Given the description of an element on the screen output the (x, y) to click on. 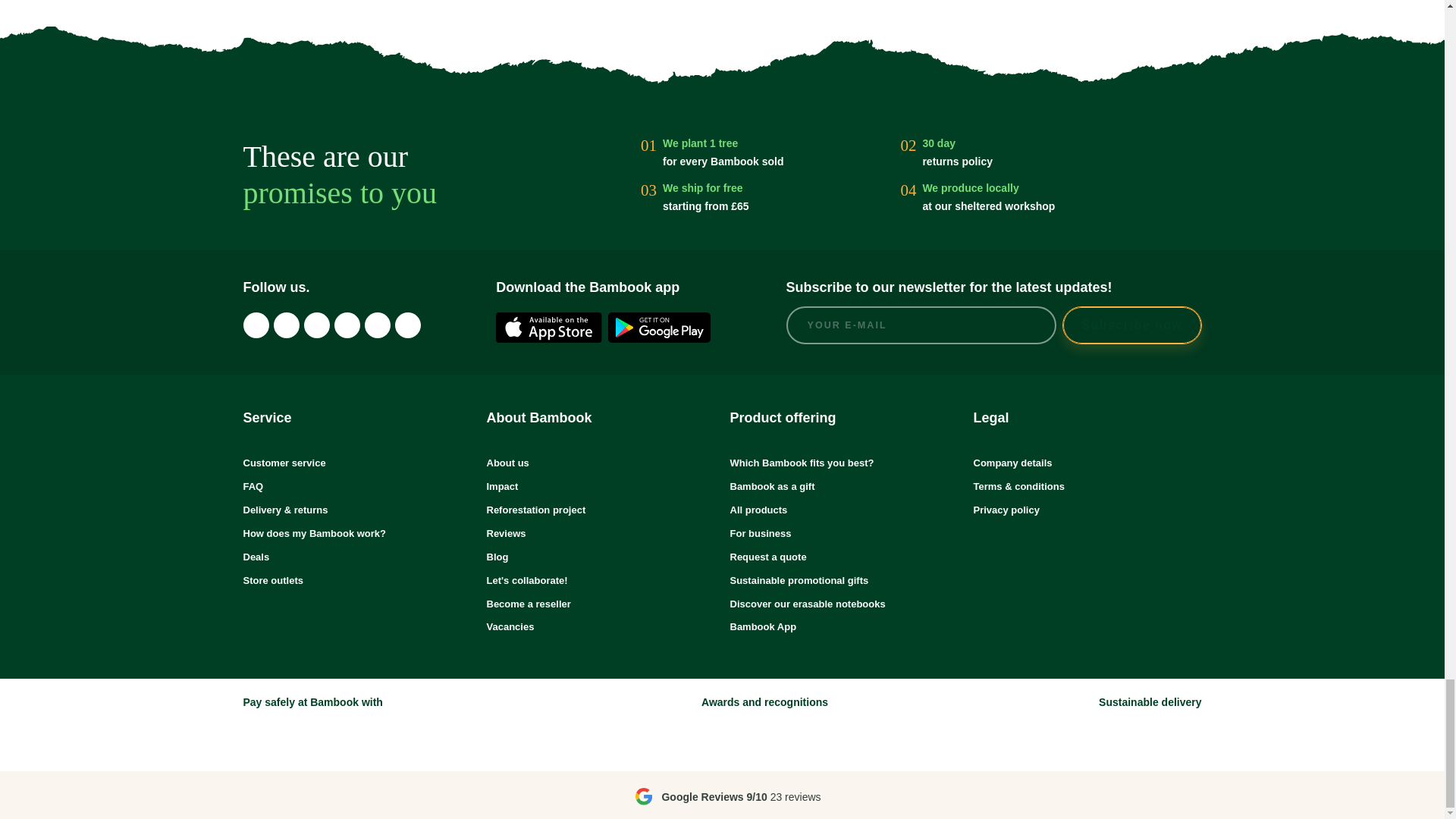
TikTok (285, 325)
Instagram (255, 325)
LinkedIn (346, 325)
YouTube (407, 325)
Pinterest (377, 325)
Facebook (315, 325)
